Given the description of an element on the screen output the (x, y) to click on. 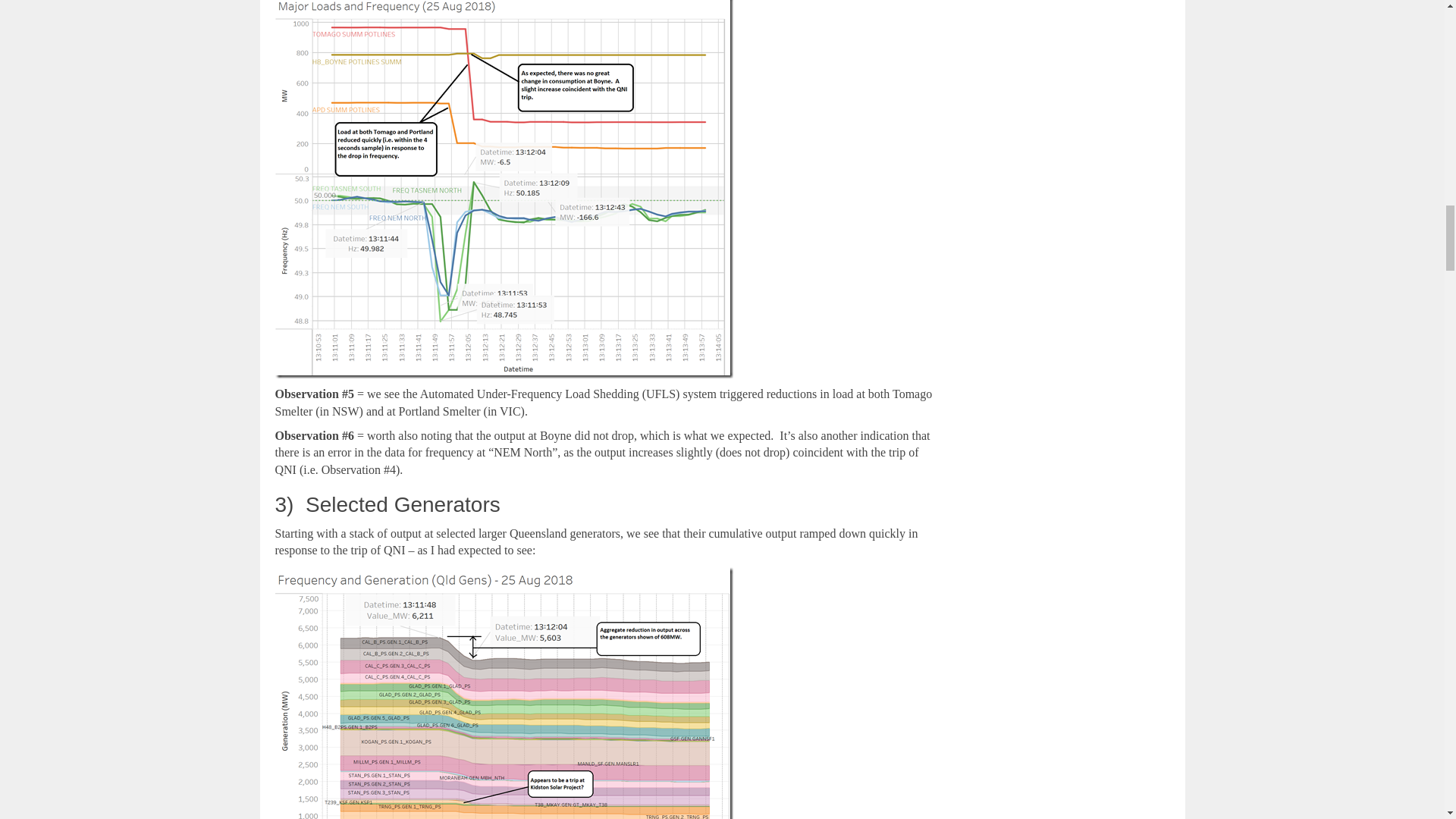
2018-08-25-SelectGensQLD (503, 693)
